Given the description of an element on the screen output the (x, y) to click on. 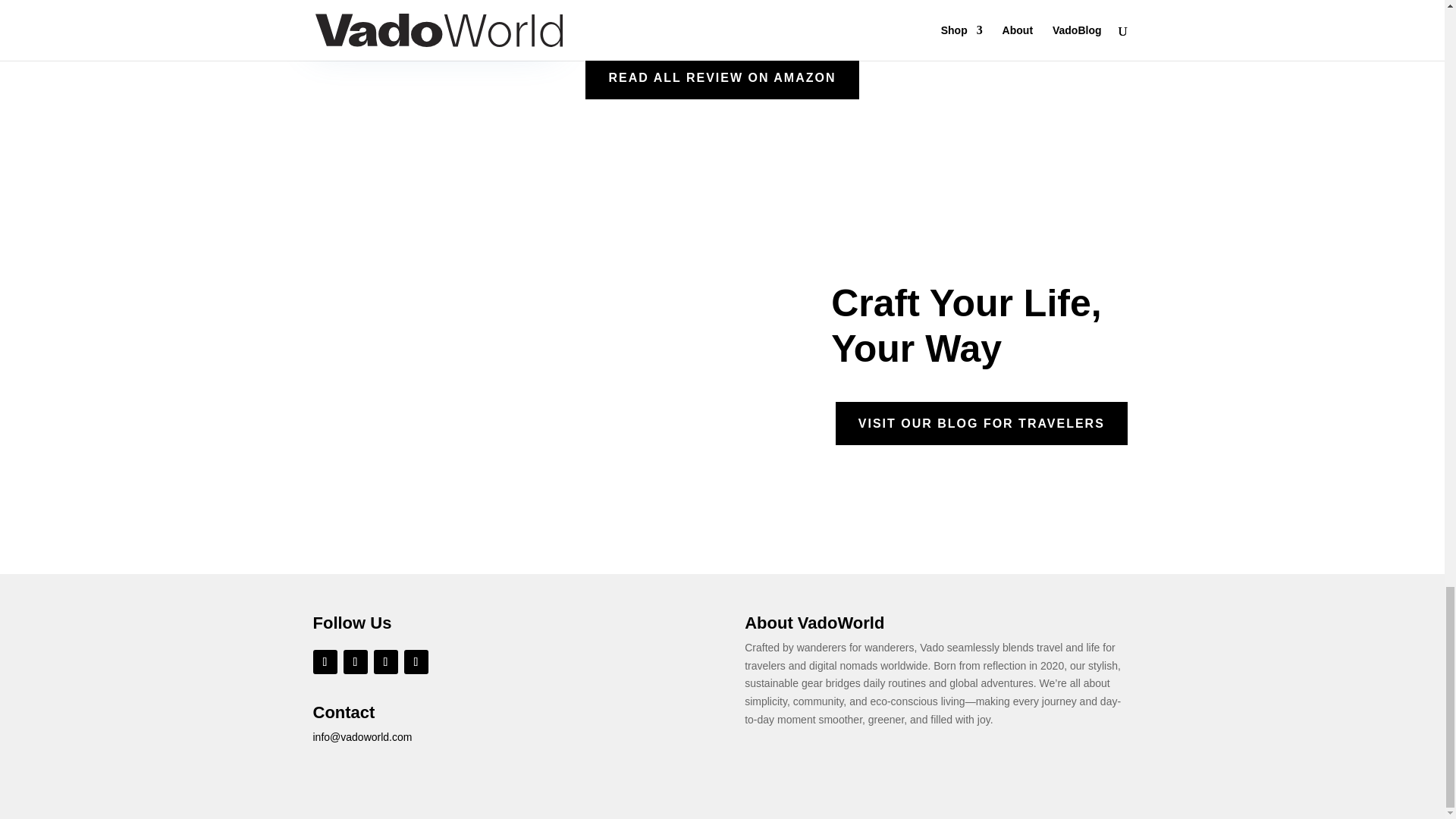
READ ALL REVIEW ON AMAZON (722, 77)
VISIT OUR BLOG FOR TRAVELERS (980, 423)
Follow on Youtube (415, 662)
Follow on LinkedIn (384, 662)
Follow on Instagram (354, 662)
Follow on Amazon (324, 662)
